Given the description of an element on the screen output the (x, y) to click on. 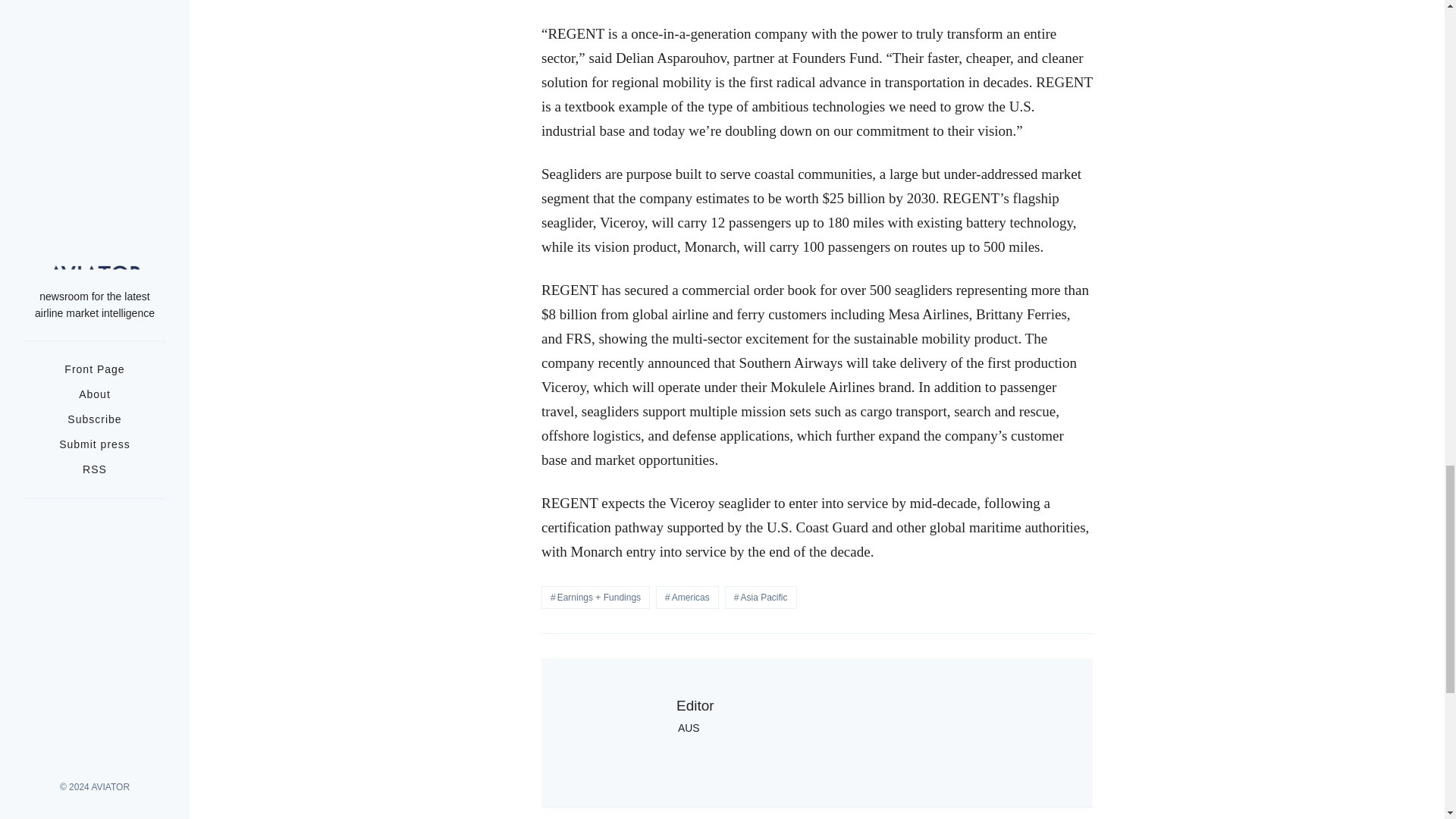
Asia Pacific (760, 597)
Editor (695, 705)
Americas (687, 597)
